Given the description of an element on the screen output the (x, y) to click on. 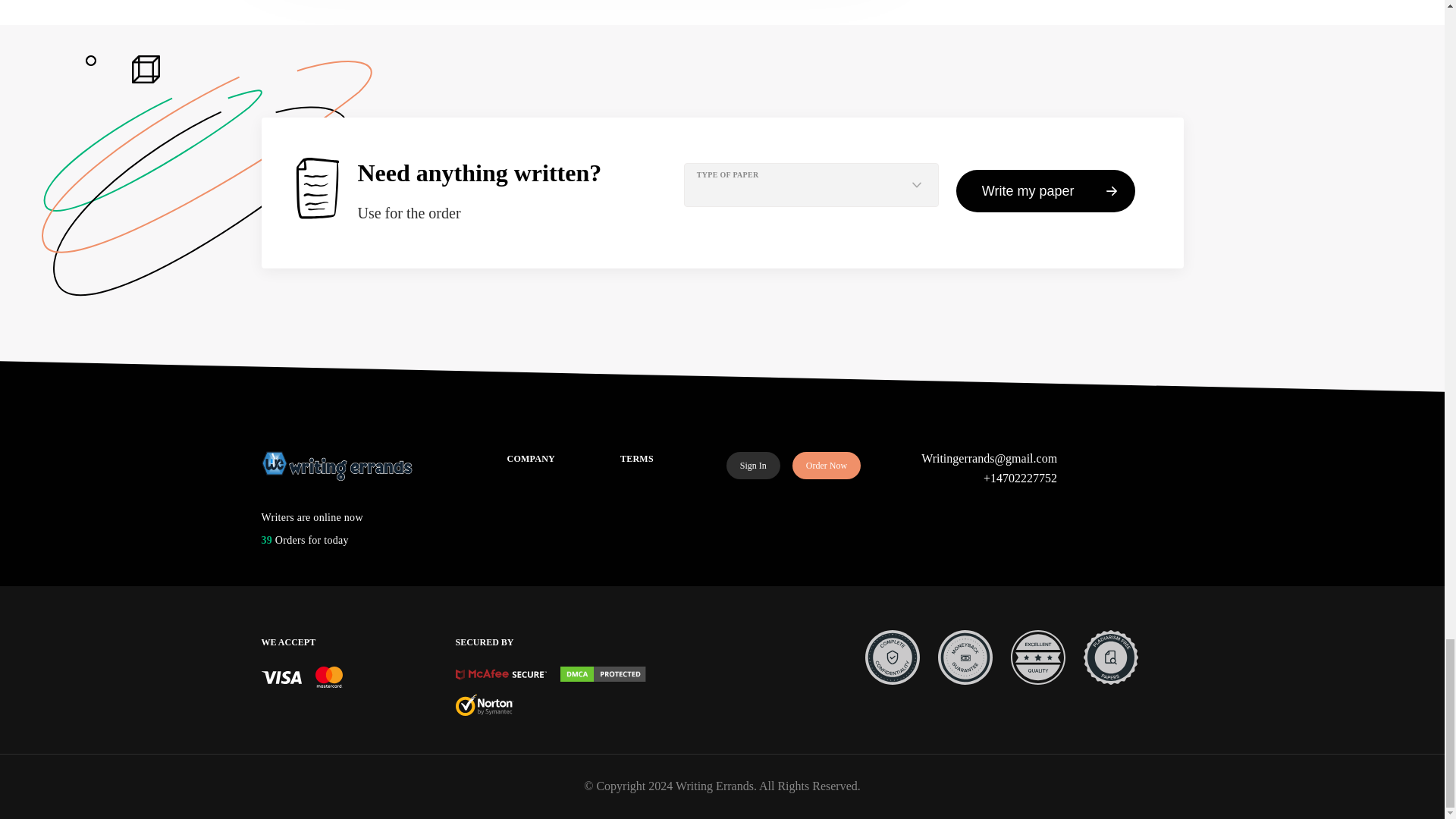
Write my paper (1045, 190)
Sign In (753, 465)
Order Now (826, 465)
Write my paper (1045, 190)
